Given the description of an element on the screen output the (x, y) to click on. 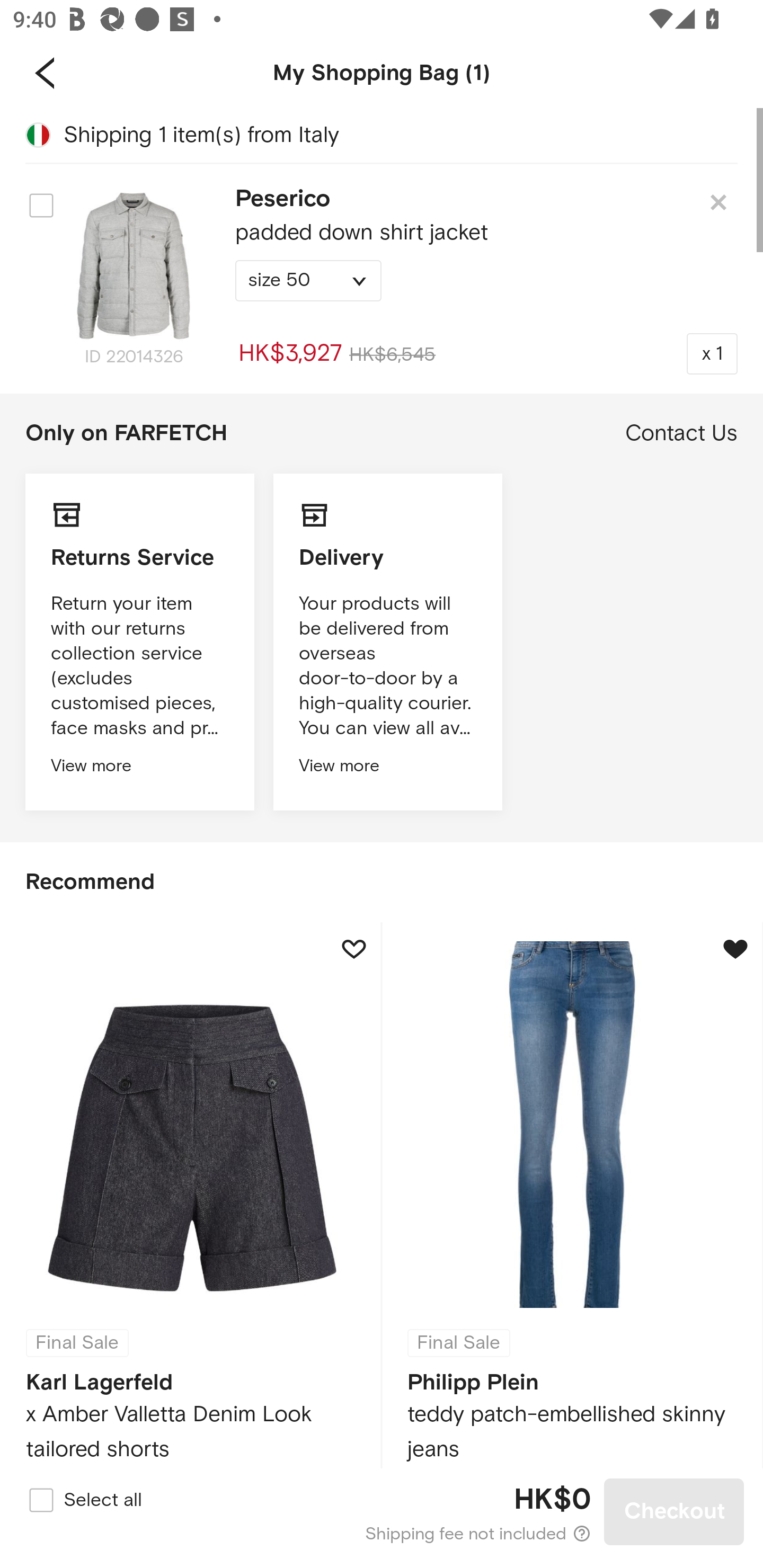
size 50 (308, 280)
x 1 (711, 353)
Contact Us (680, 433)
HK$0 Shipping fee not included (382, 1512)
Checkout (673, 1511)
